Given the description of an element on the screen output the (x, y) to click on. 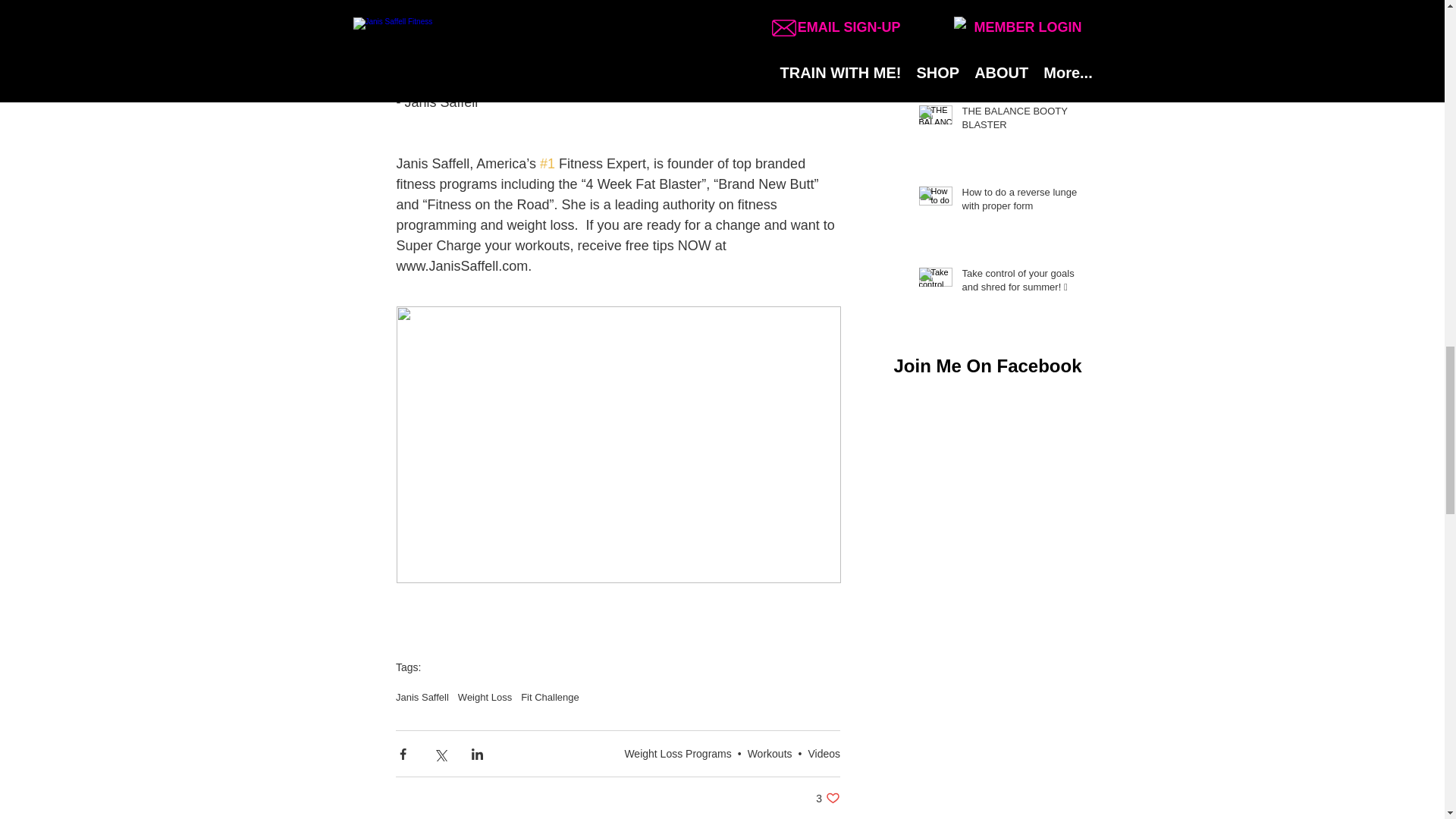
Videos (824, 753)
Workouts (770, 753)
Weight Loss Programs (677, 753)
Janis Saffell (422, 696)
Weight Loss (827, 798)
Fit Challenge (485, 696)
